Given the description of an element on the screen output the (x, y) to click on. 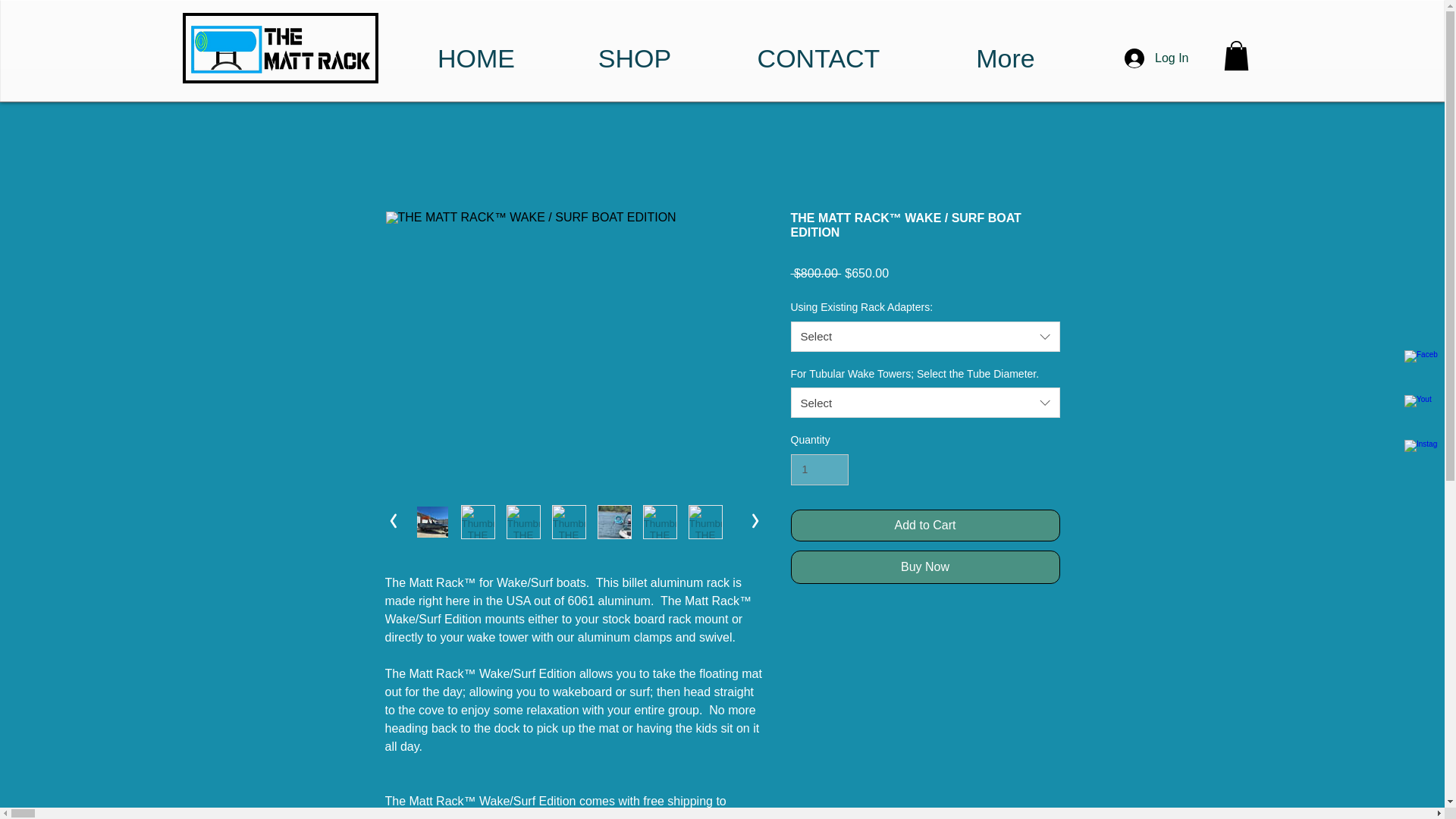
HOME (475, 48)
1 (818, 469)
Buy Now (924, 566)
Select (924, 336)
Log In (1155, 58)
Select (924, 402)
Add to Cart (924, 525)
logo png.png (280, 47)
CONTACT (817, 48)
SHOP (634, 48)
